Given the description of an element on the screen output the (x, y) to click on. 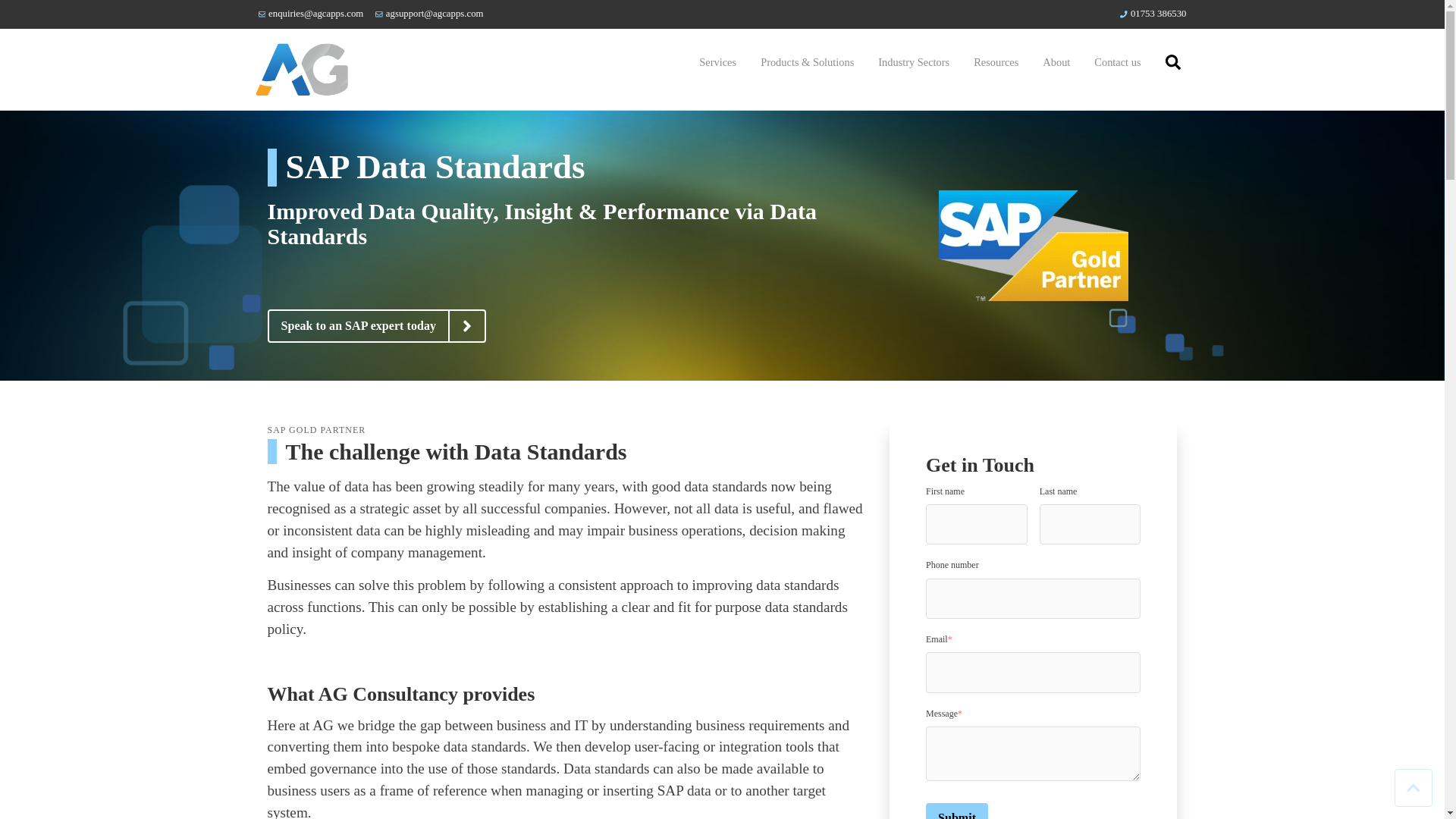
Submit (957, 811)
Services (717, 61)
